Given the description of an element on the screen output the (x, y) to click on. 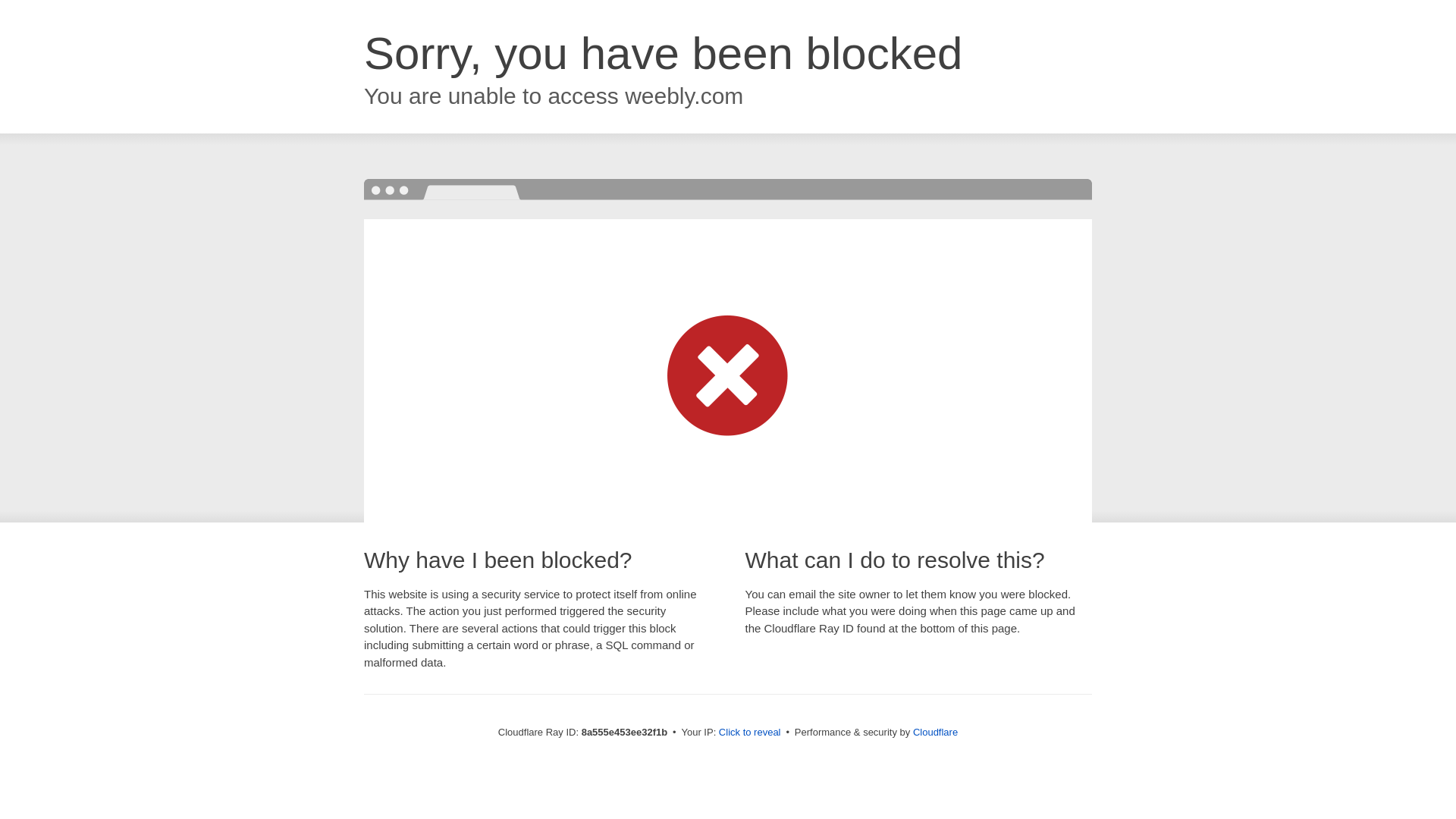
Click to reveal (749, 732)
Cloudflare (935, 731)
